Given the description of an element on the screen output the (x, y) to click on. 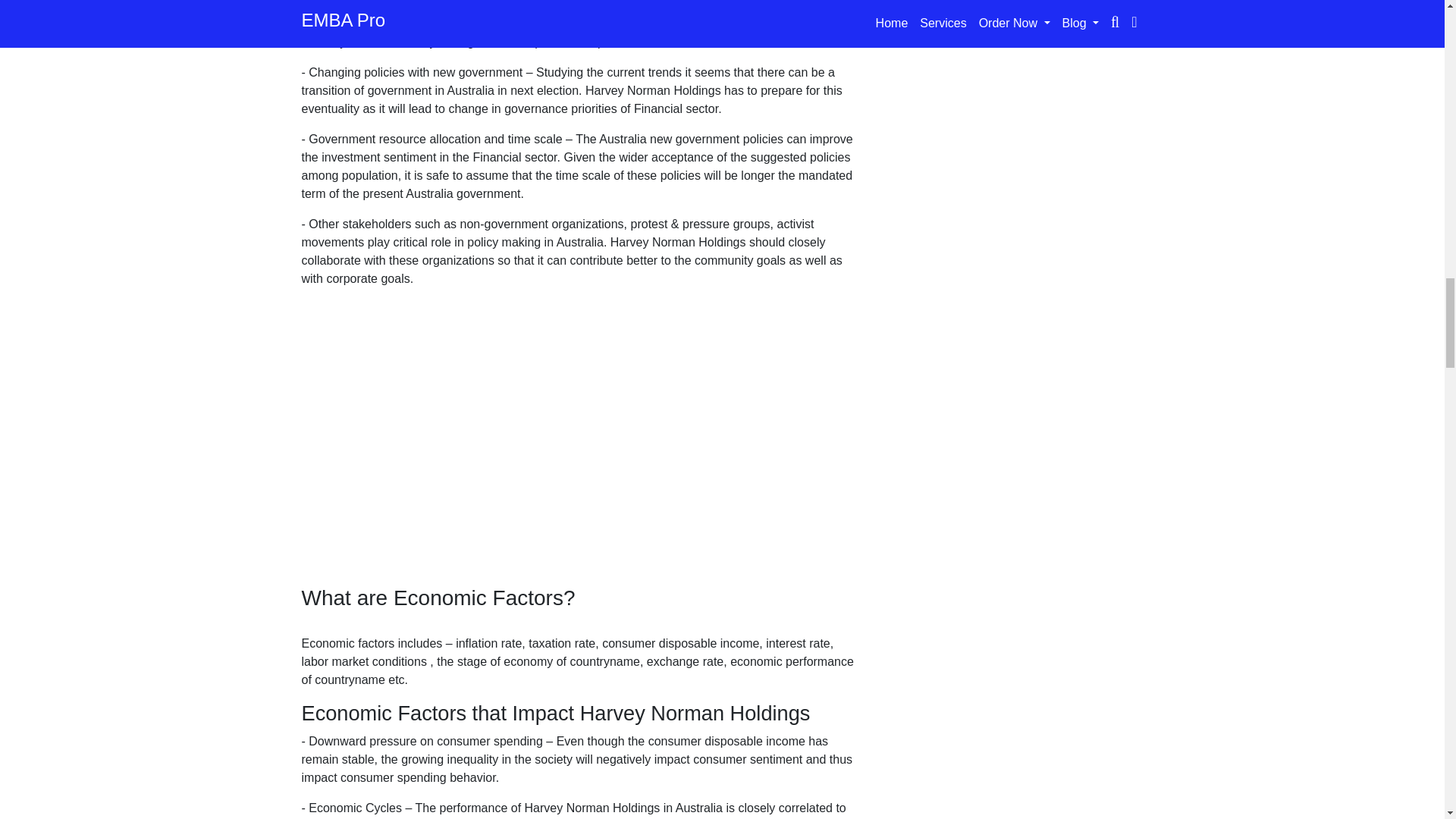
Advertisement (578, 442)
